Given the description of an element on the screen output the (x, y) to click on. 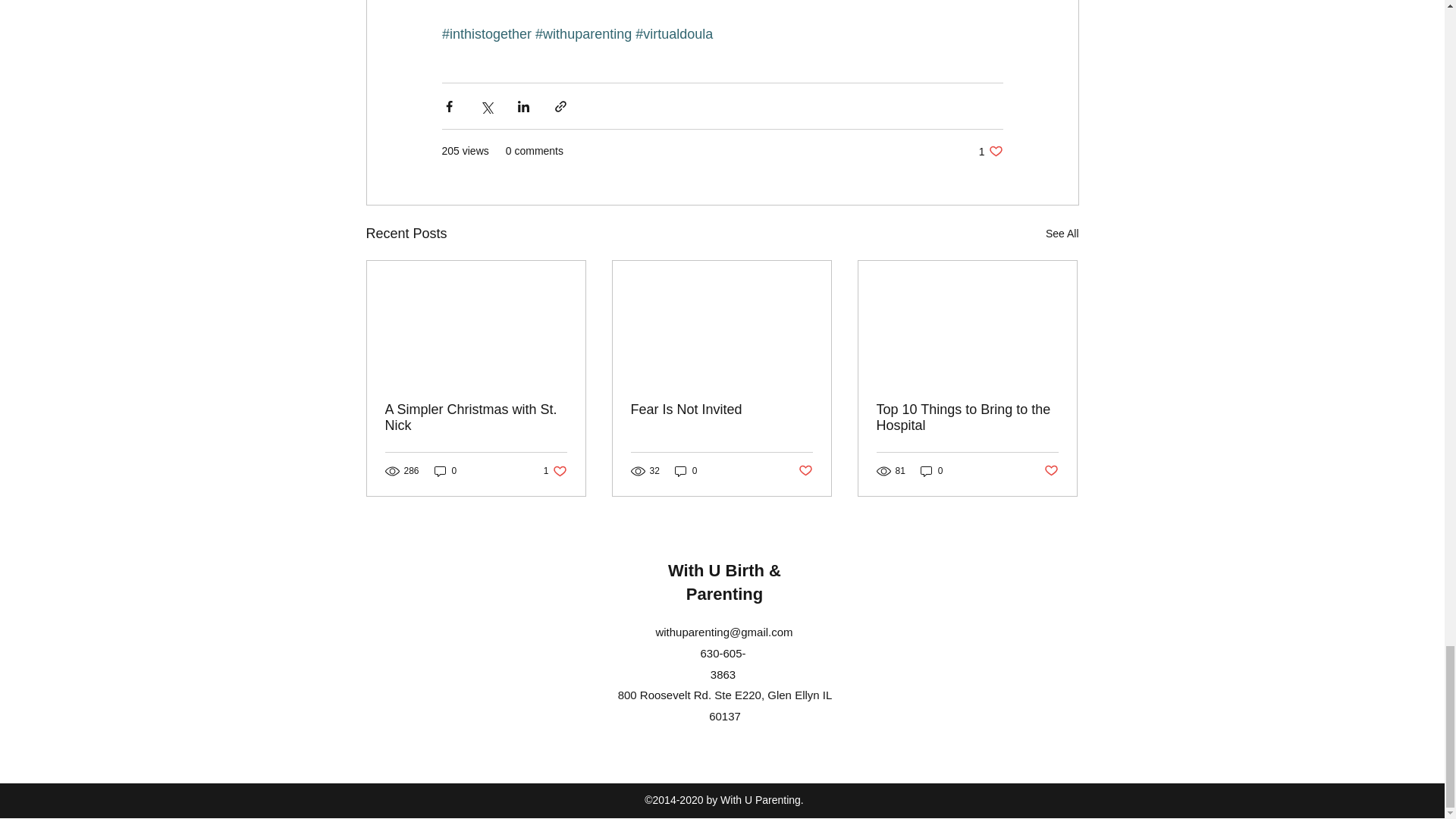
Post not marked as liked (804, 470)
0 (931, 471)
Top 10 Things to Bring to the Hospital (967, 418)
0 (685, 471)
See All (1061, 233)
A Simpler Christmas with St. Nick (476, 418)
Post not marked as liked (1050, 470)
Fear Is Not Invited (555, 471)
0 (721, 409)
